Given the description of an element on the screen output the (x, y) to click on. 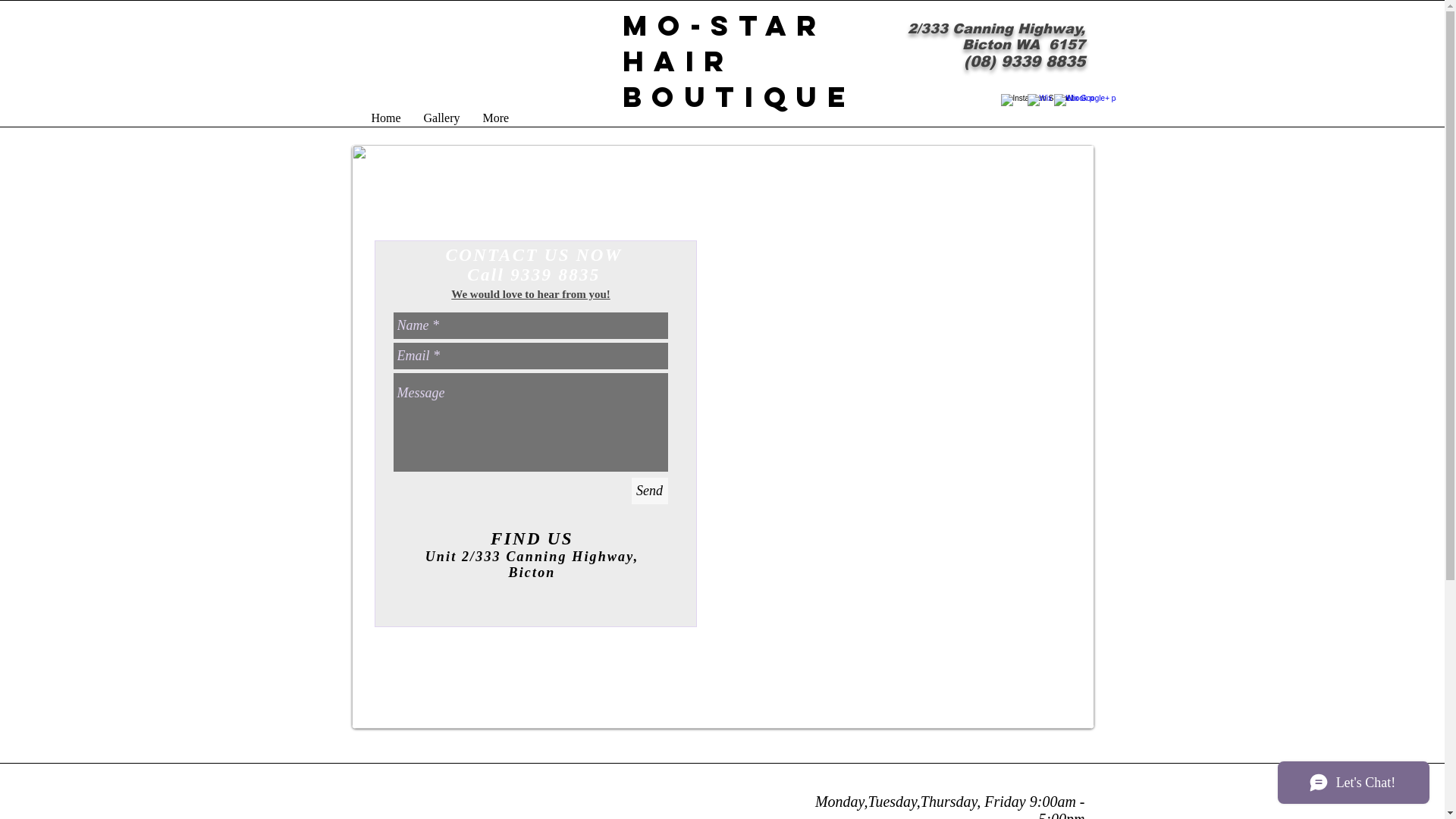
Google Maps Element type: hover (898, 461)
Mo-Star Hair Boutique Element type: text (738, 60)
Home Element type: text (385, 117)
Gallery Element type: text (441, 117)
Send Element type: text (648, 490)
